Given the description of an element on the screen output the (x, y) to click on. 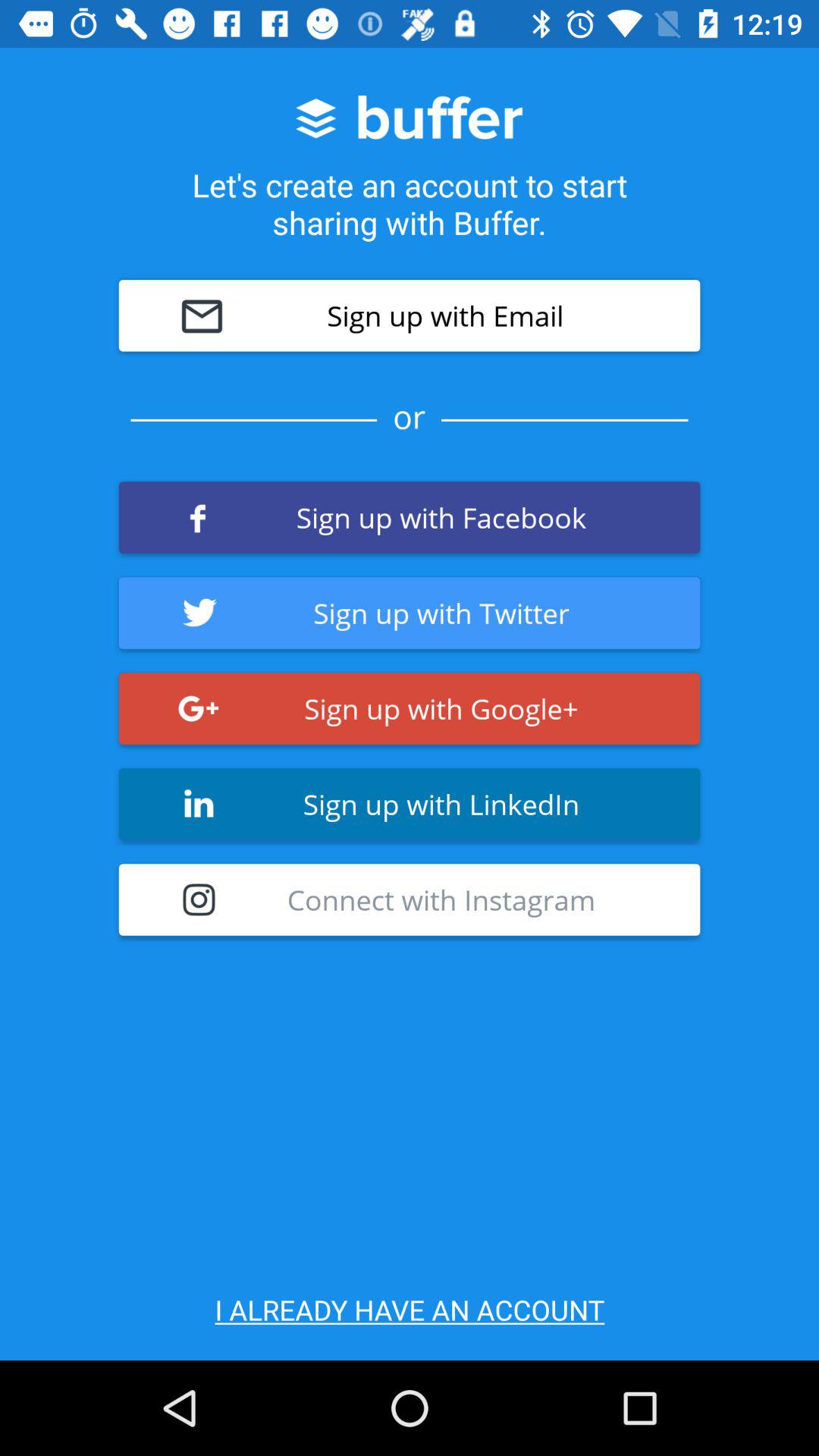
flip until the connect with instagram (409, 899)
